Given the description of an element on the screen output the (x, y) to click on. 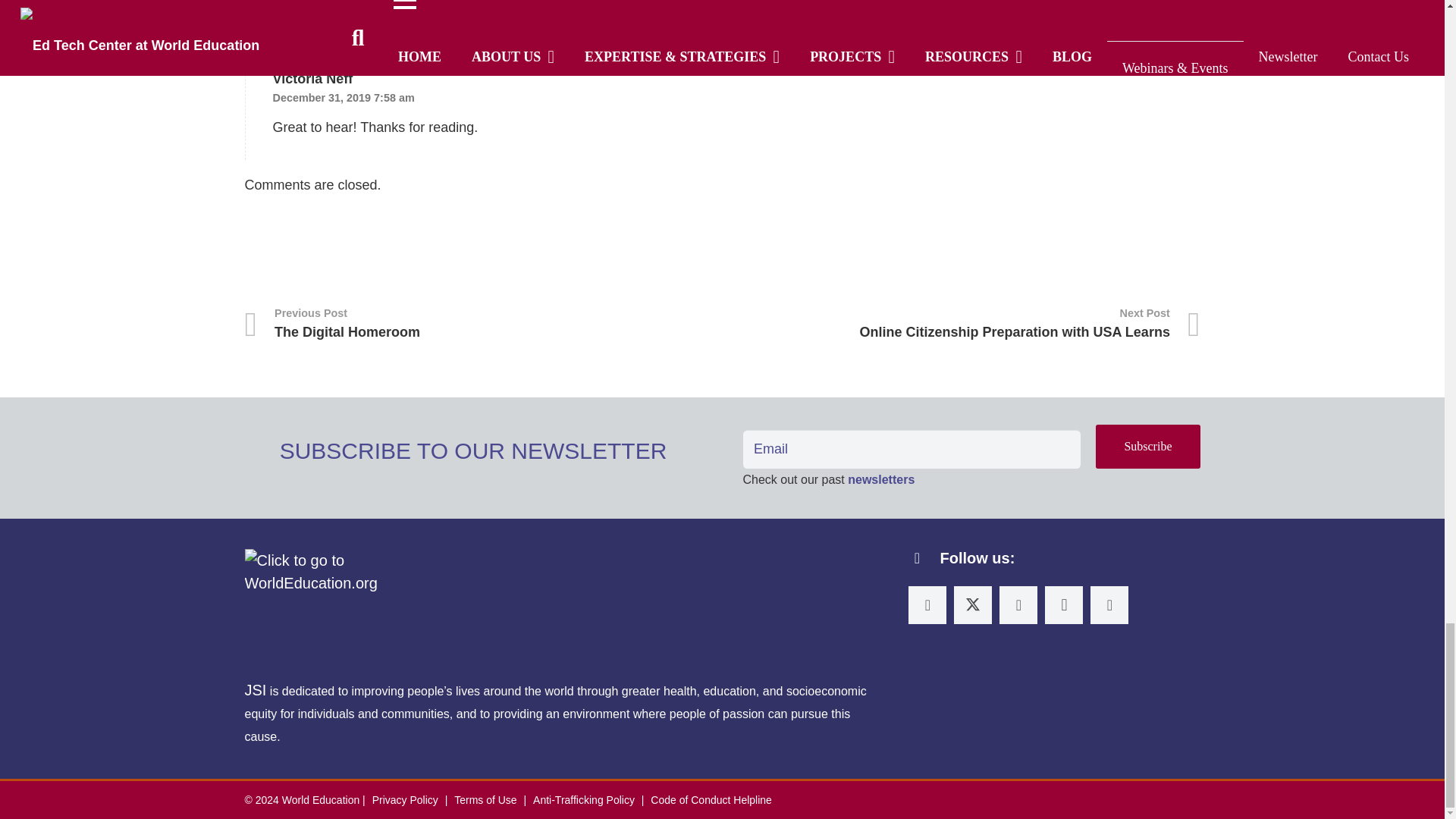
The Digital Homeroom (483, 324)
Twitter (972, 604)
Facebook (1017, 604)
Instagram (1064, 604)
Subscribe (1147, 446)
YouTube (1109, 604)
December 31, 2019 7:58 am (343, 97)
Online Citizenship Preparation with USA Learns (960, 324)
LinkedIn (927, 604)
